Given the description of an element on the screen output the (x, y) to click on. 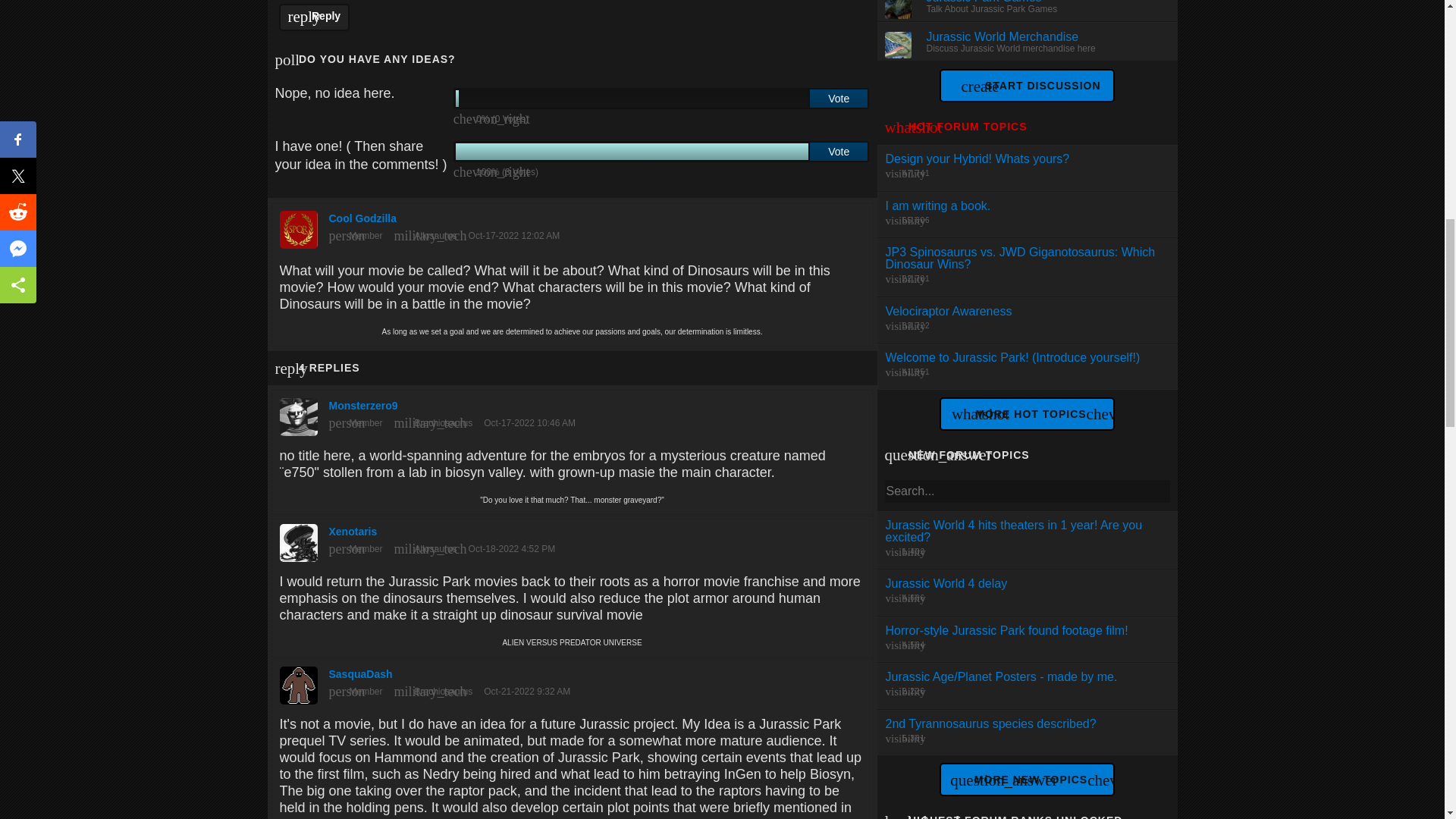
Vote (839, 151)
SasquaDash (571, 681)
Vote (839, 97)
Vote for Nope, no idea here. (839, 97)
START DISCUSSION (1030, 85)
Xenotaris (571, 539)
Cool Godzilla (571, 225)
Jurassic Park Games (984, 2)
Jurassic World Merchandise (1002, 36)
Reply to this! (1026, 167)
Monsterzero9 (314, 17)
Reply (1026, 213)
